Given the description of an element on the screen output the (x, y) to click on. 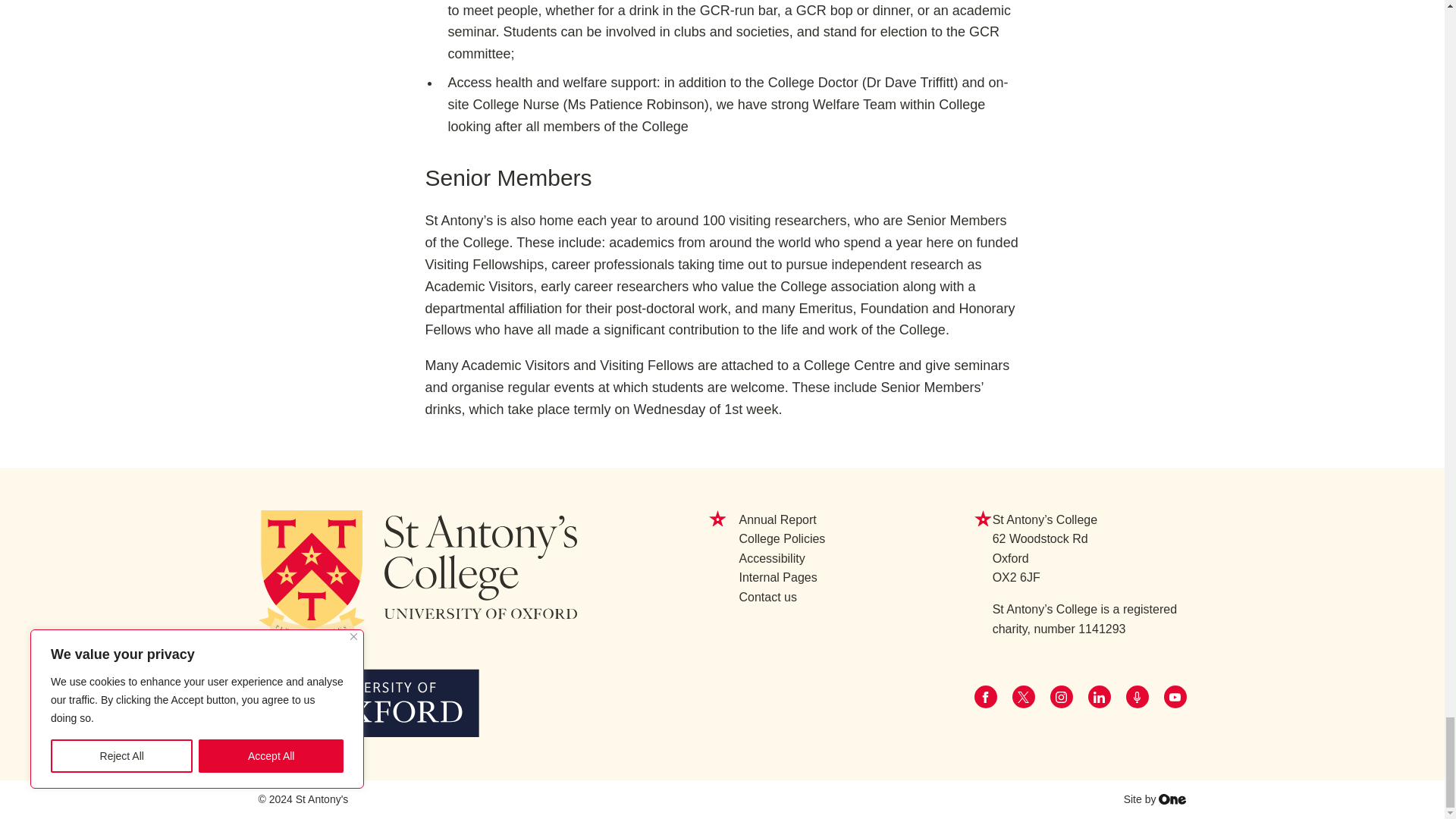
Podcast logo (1136, 696)
Instagram logo (1061, 696)
Facebook logo (985, 696)
Linkedin logo (1099, 696)
Twitter logo (1023, 696)
YouTube logo (1174, 696)
